Given the description of an element on the screen output the (x, y) to click on. 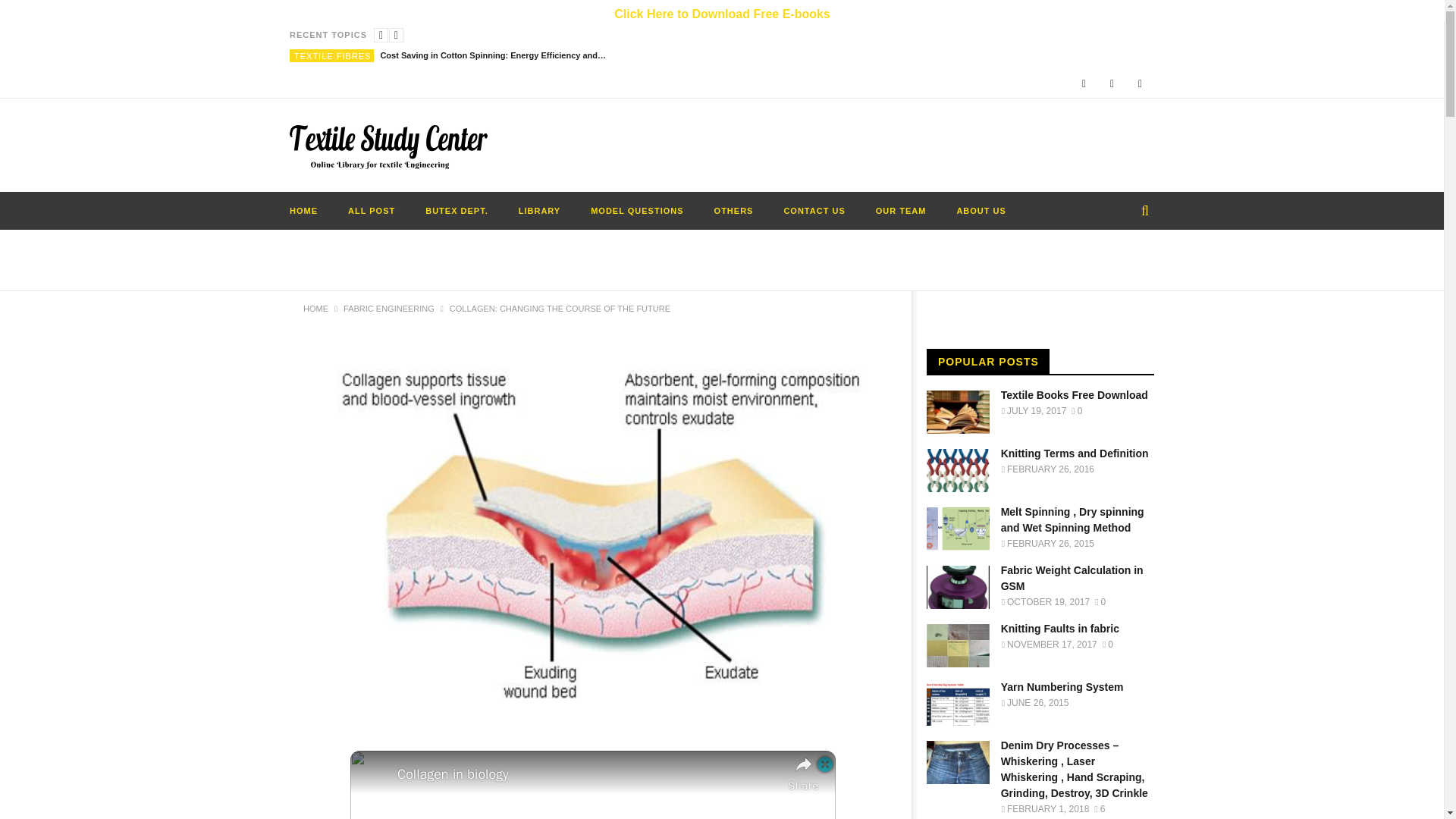
HOME (304, 210)
LIBRARY (539, 210)
Click Here to Download Free E-books (721, 13)
MODEL QUESTIONS (636, 210)
View all posts in Textile Fibres (332, 55)
TEXTILE FIBRES (332, 55)
ALL POST (371, 210)
OTHERS (733, 210)
